Given the description of an element on the screen output the (x, y) to click on. 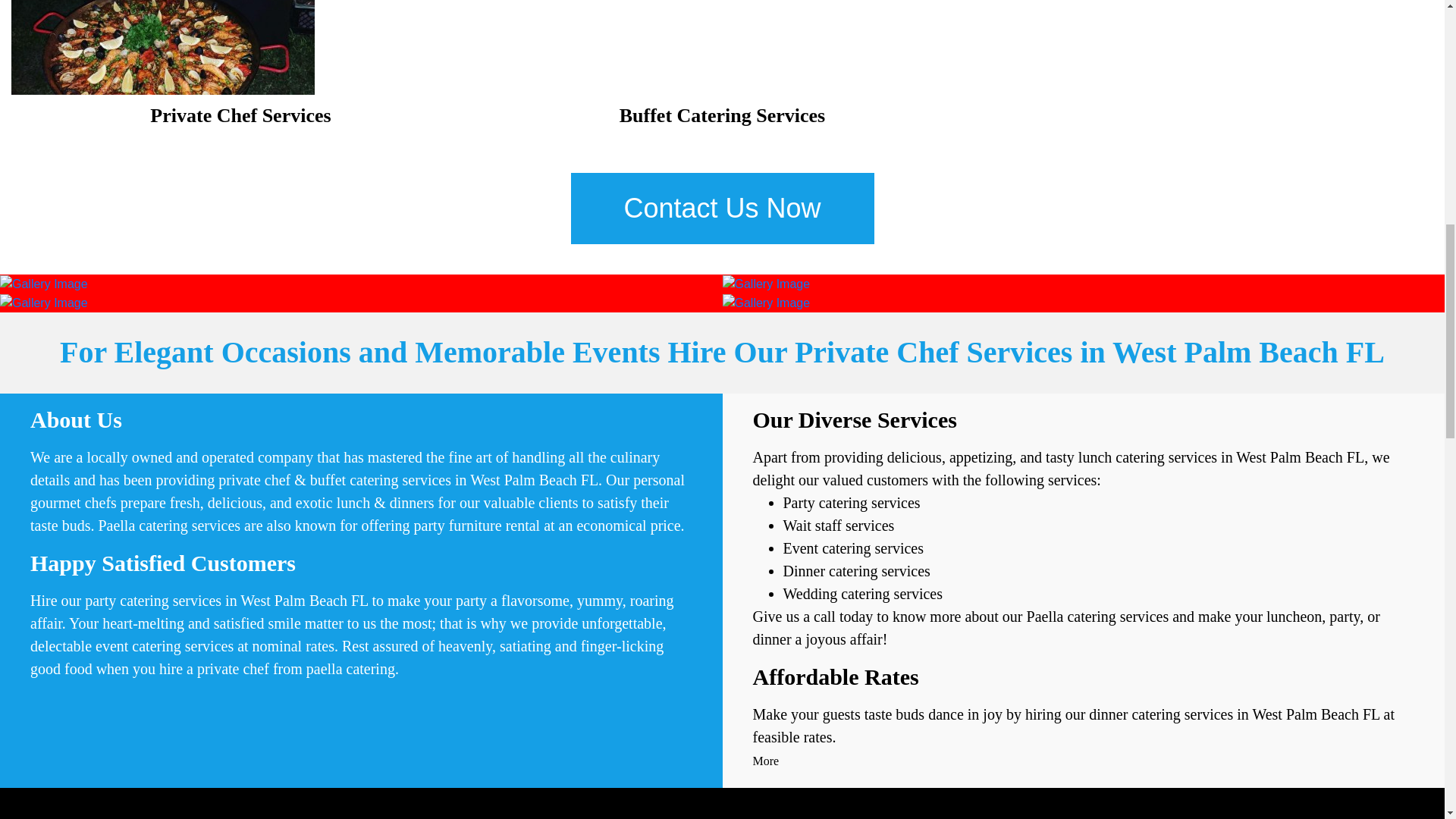
Contact Us Now (721, 208)
